Given the description of an element on the screen output the (x, y) to click on. 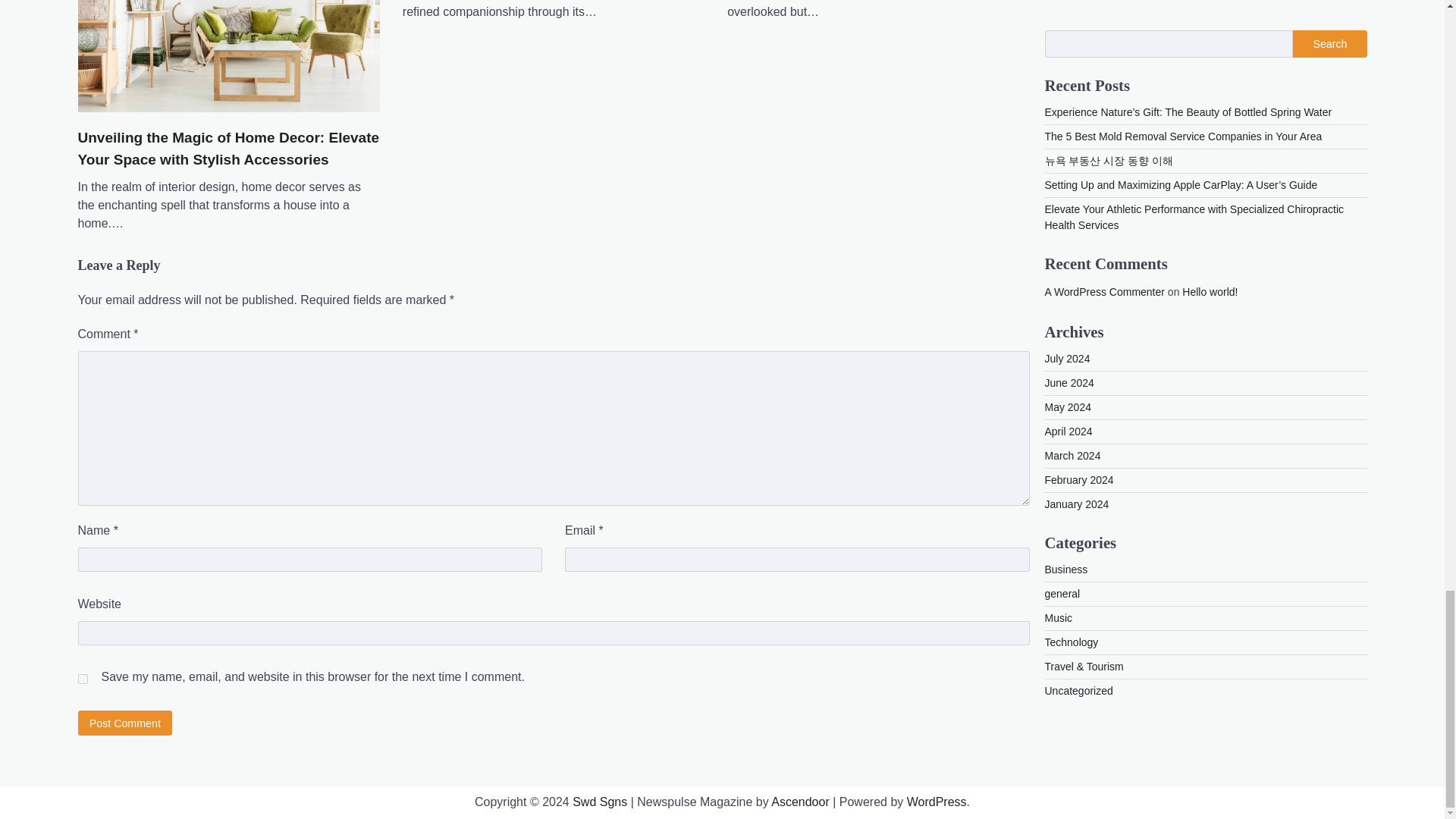
Post Comment (124, 722)
yes (82, 678)
Post Comment (124, 722)
Swd Sgns (599, 801)
